Given the description of an element on the screen output the (x, y) to click on. 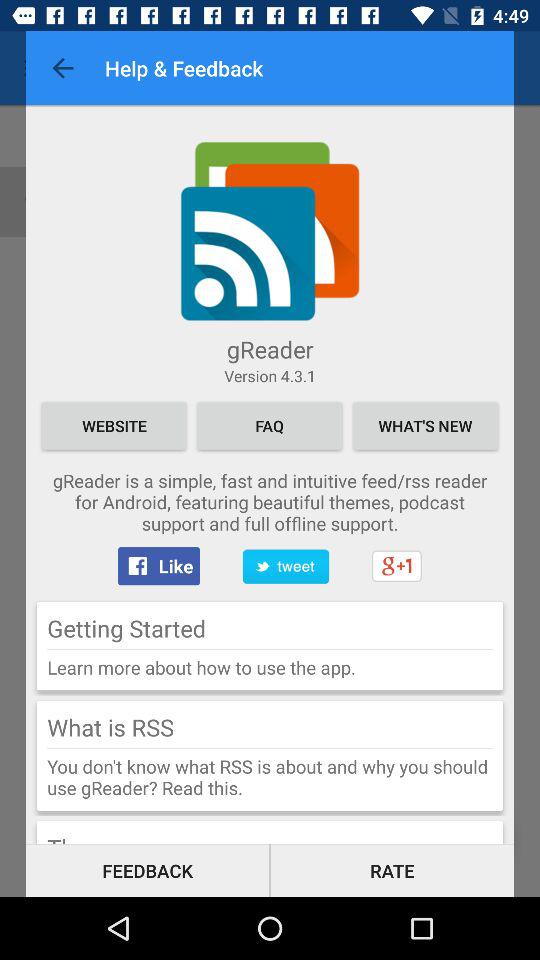
launch getting started icon (126, 628)
